Given the description of an element on the screen output the (x, y) to click on. 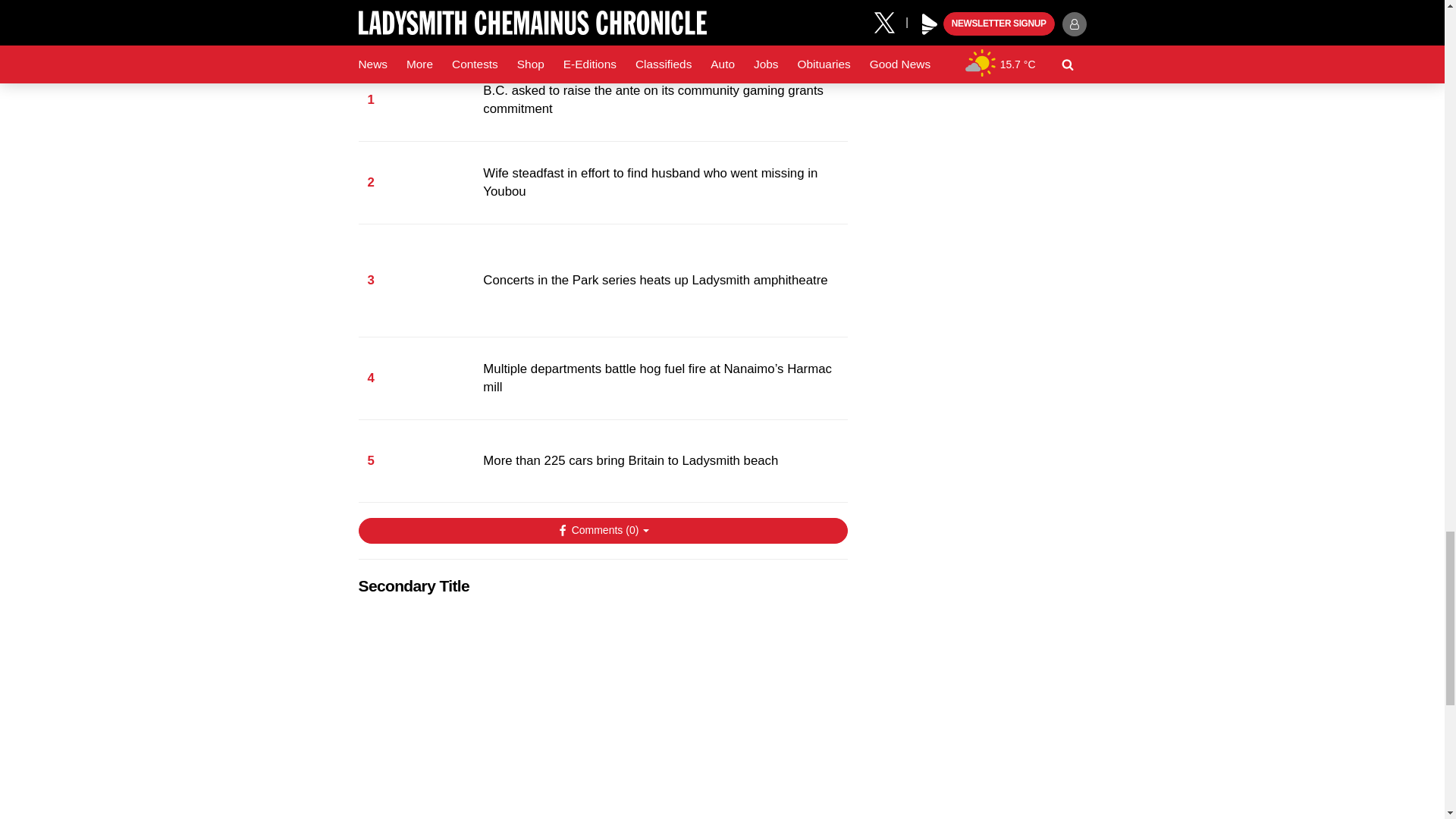
Show Comments (602, 530)
3rd party ad content (602, 705)
